Given the description of an element on the screen output the (x, y) to click on. 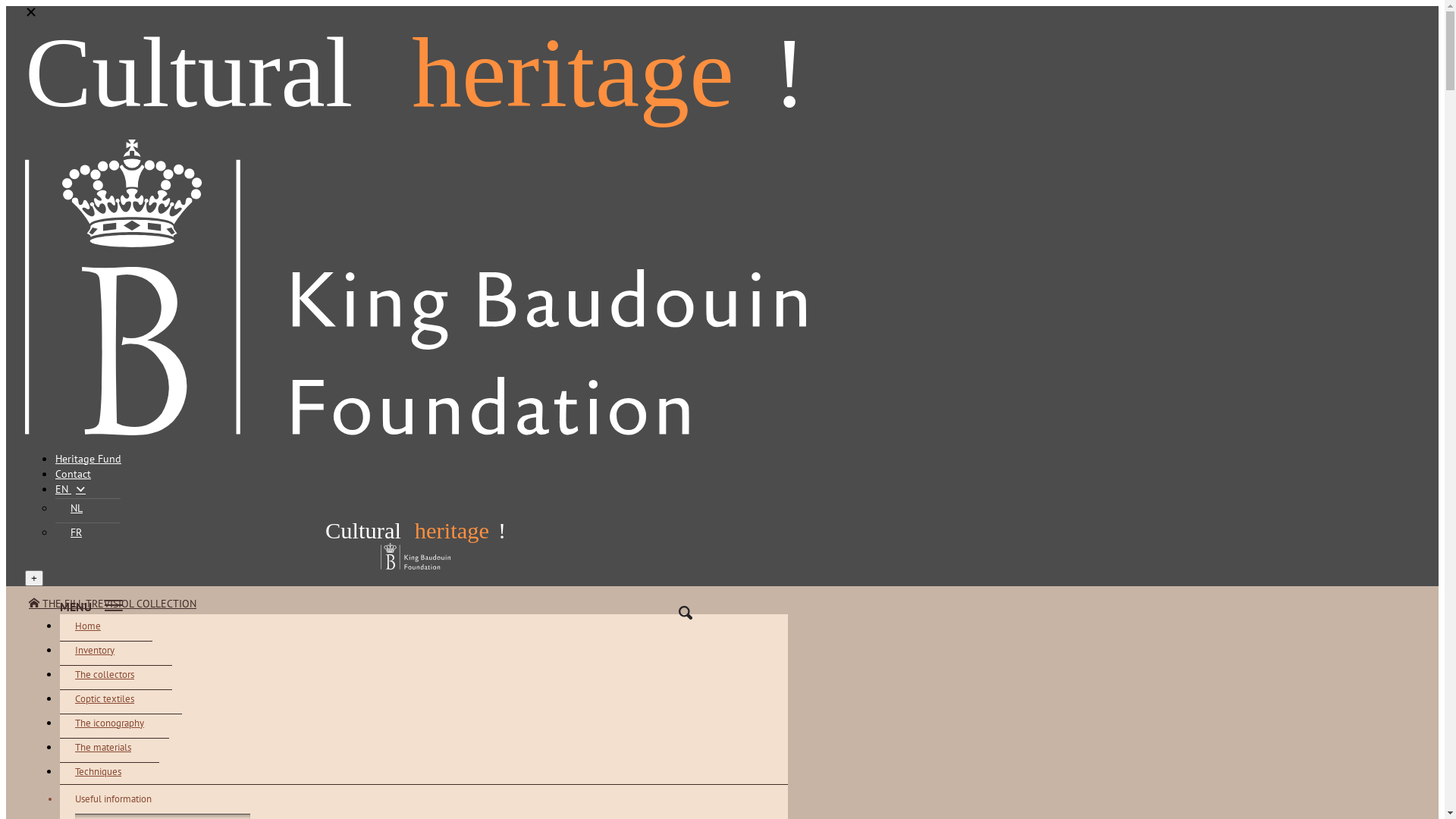
Coptic textiles Element type: text (115, 698)
Home Element type: text (98, 625)
MENU Element type: text (423, 605)
Inventory Element type: text (105, 649)
Search Element type: text (685, 612)
The collectors Element type: text (115, 674)
The materials Element type: text (114, 746)
+ Element type: text (34, 578)
The iconography Element type: text (120, 722)
NL Element type: text (87, 507)
FR Element type: text (87, 531)
Techniques Element type: text (109, 771)
Contact Element type: text (73, 473)
THE FILL-TREVISIOL COLLECTION Element type: text (112, 603)
EN Element type: text (70, 488)
Heritage Fund Element type: text (88, 458)
